Given the description of an element on the screen output the (x, y) to click on. 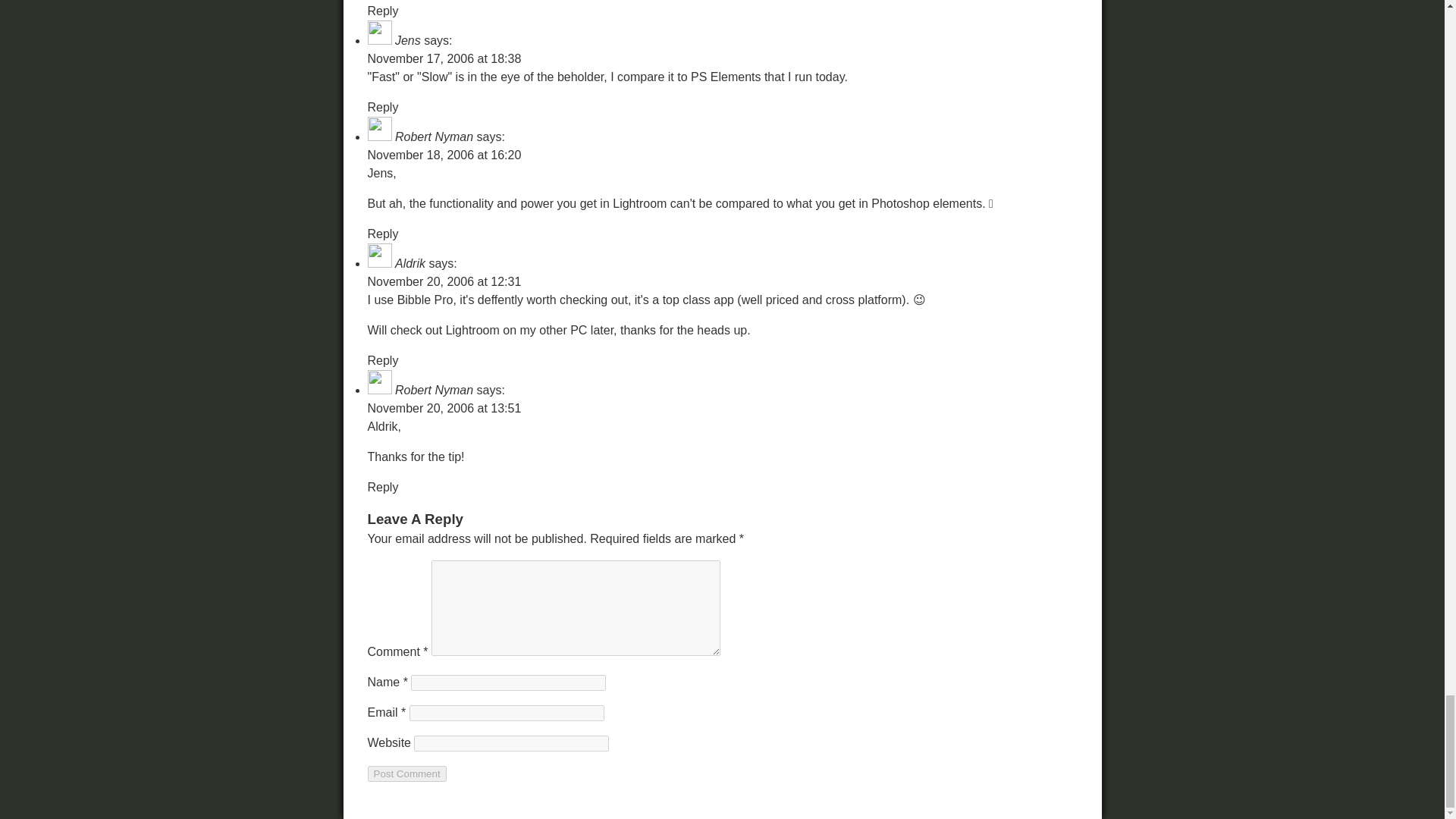
Post Comment (405, 773)
